Given the description of an element on the screen output the (x, y) to click on. 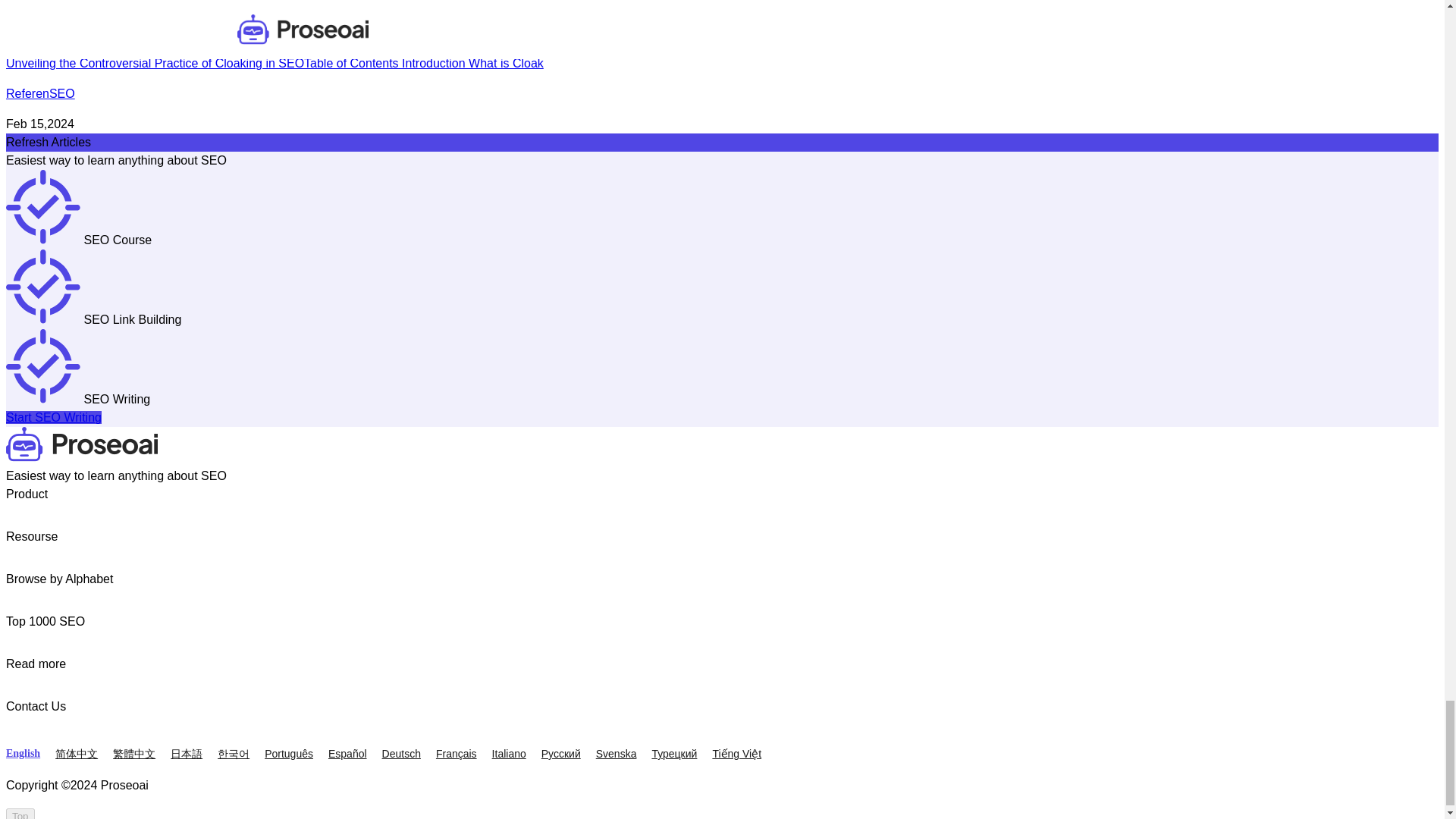
ReferenSEO (40, 92)
Start SEO Writing (53, 417)
